Given the description of an element on the screen output the (x, y) to click on. 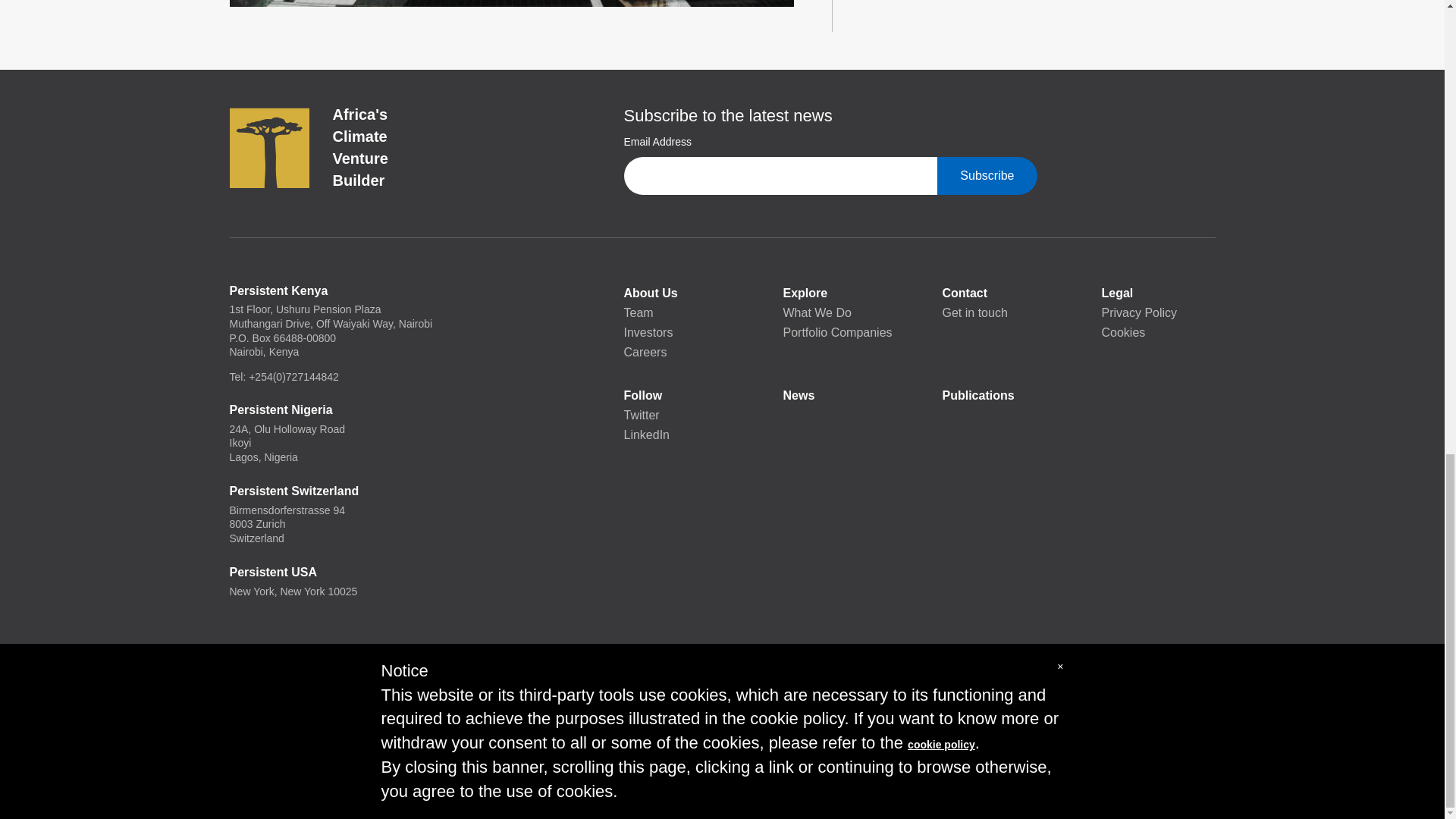
Twitter (679, 415)
Get in touch (998, 312)
Careers (679, 352)
Subscribe (986, 175)
Explore (839, 293)
LinkedIn (679, 435)
Portfolio Companies (839, 332)
Subscribe (986, 175)
created by dji camera (510, 3)
Follow (679, 395)
